Given the description of an element on the screen output the (x, y) to click on. 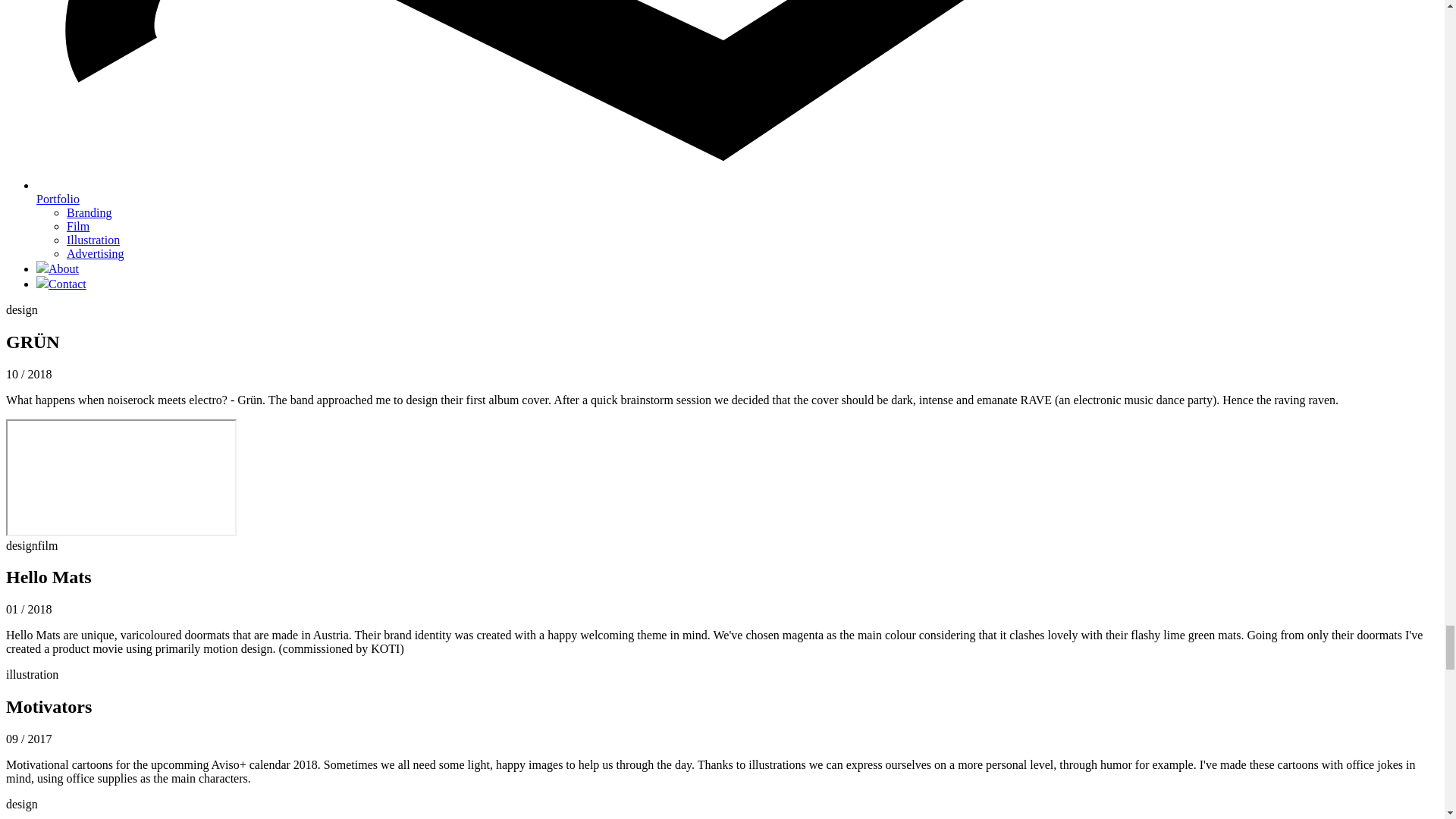
Branding (89, 212)
Illustration (92, 239)
About (57, 268)
Contact (60, 283)
Film (77, 226)
Advertising (94, 253)
